Given the description of an element on the screen output the (x, y) to click on. 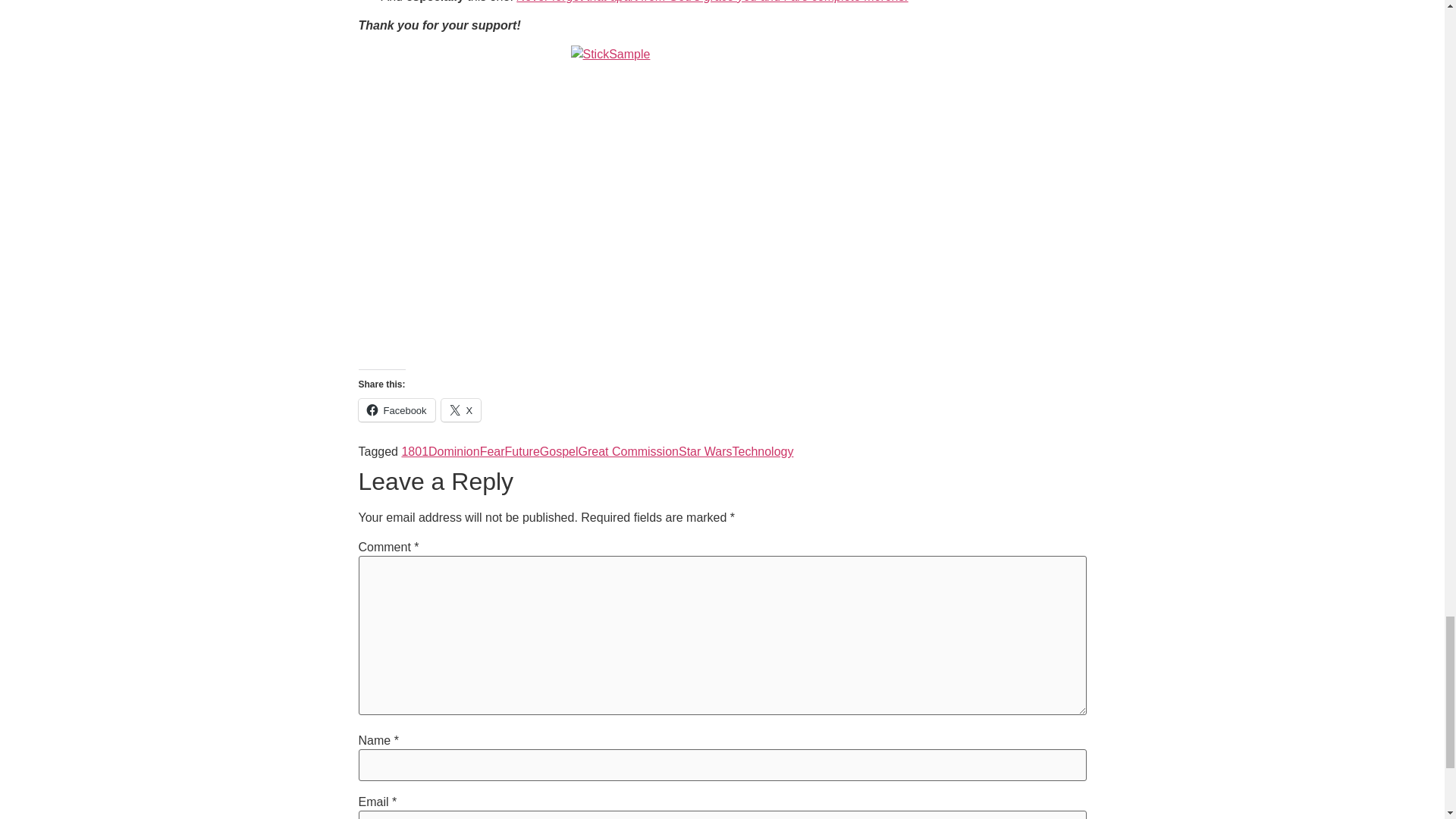
Click to share on Facebook (395, 409)
Dominion (454, 451)
Facebook (395, 409)
Fear (492, 451)
X (461, 409)
1801 (414, 451)
Click to share on X (461, 409)
